Given the description of an element on the screen output the (x, y) to click on. 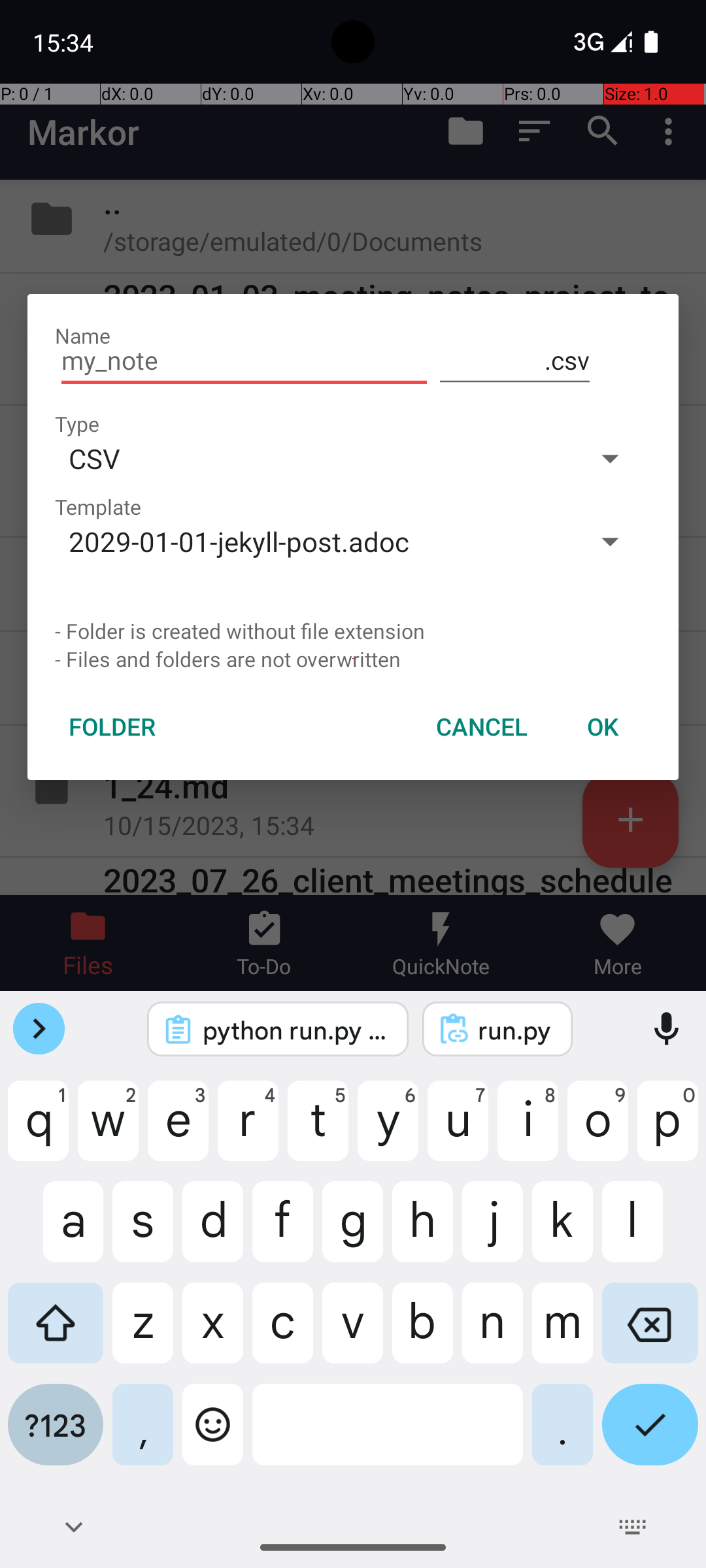
.csv Element type: android.widget.EditText (514, 360)
python run.py \   --suite_family=android_world \   --agent_name=t3a_gpt4 \   --perform_emulator_setup \   --tasks=ContactsAddContact,ClockStopWatchRunning \  # Optional: Just run on a subset. Element type: android.widget.TextView (294, 1029)
run.py Element type: android.widget.TextView (514, 1029)
